Given the description of an element on the screen output the (x, y) to click on. 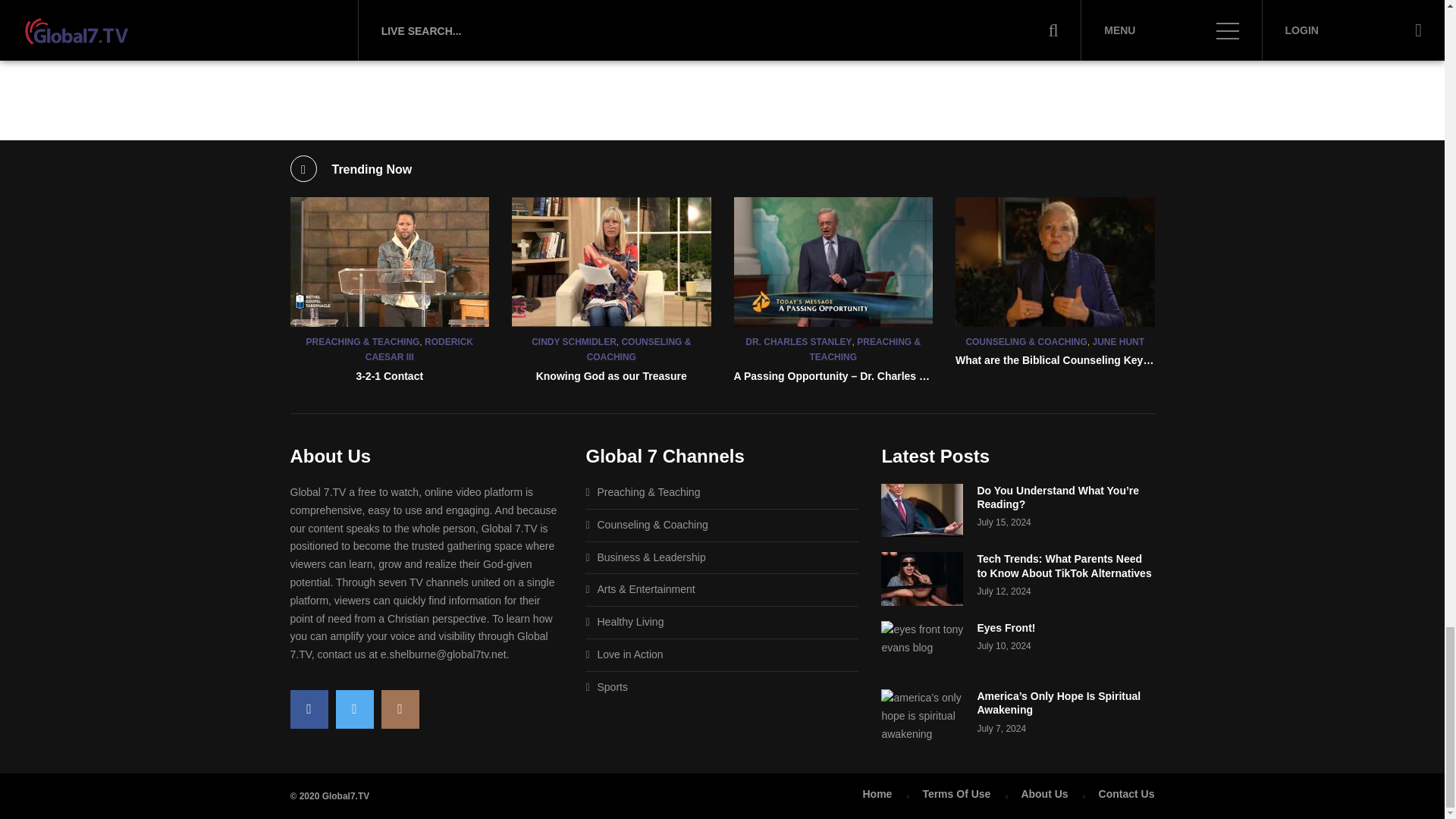
a passion oportunity (833, 261)
3-2-1 Contact (389, 376)
Cindy Schmidler (611, 261)
Knowing God as our Treasure (611, 376)
3-2-1 Contact (389, 261)
